Given the description of an element on the screen output the (x, y) to click on. 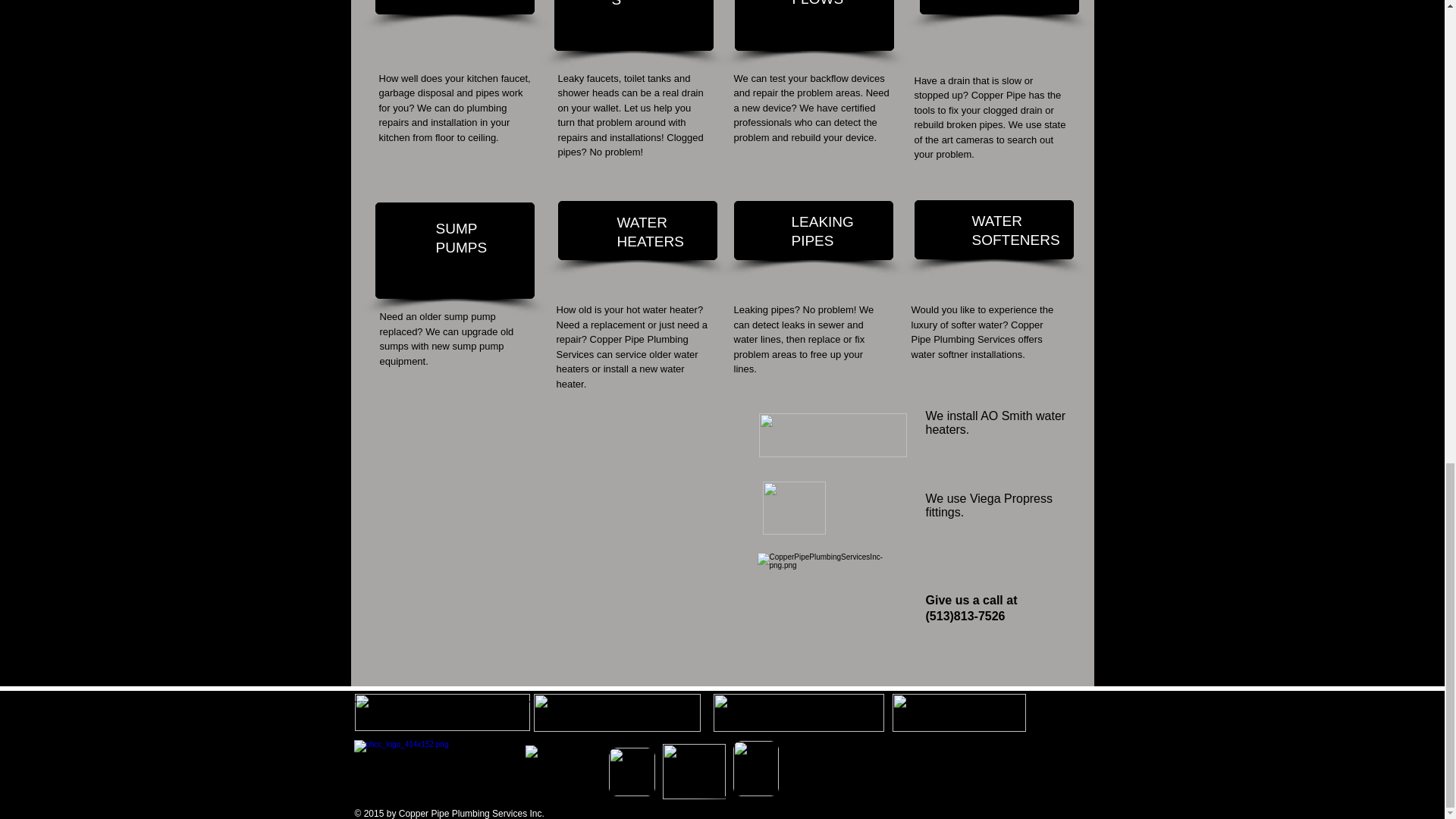
facebook-logo-2.png (958, 712)
BACK FLOWS (817, 3)
WATER SOFTENERS (1015, 230)
External YouTube (563, 549)
WATER HEATERS (650, 231)
LEAKING PIPES  (822, 230)
youtube-icon-3.png (693, 771)
SUMP PUMPS  (462, 237)
cdn.png (442, 712)
